Given the description of an element on the screen output the (x, y) to click on. 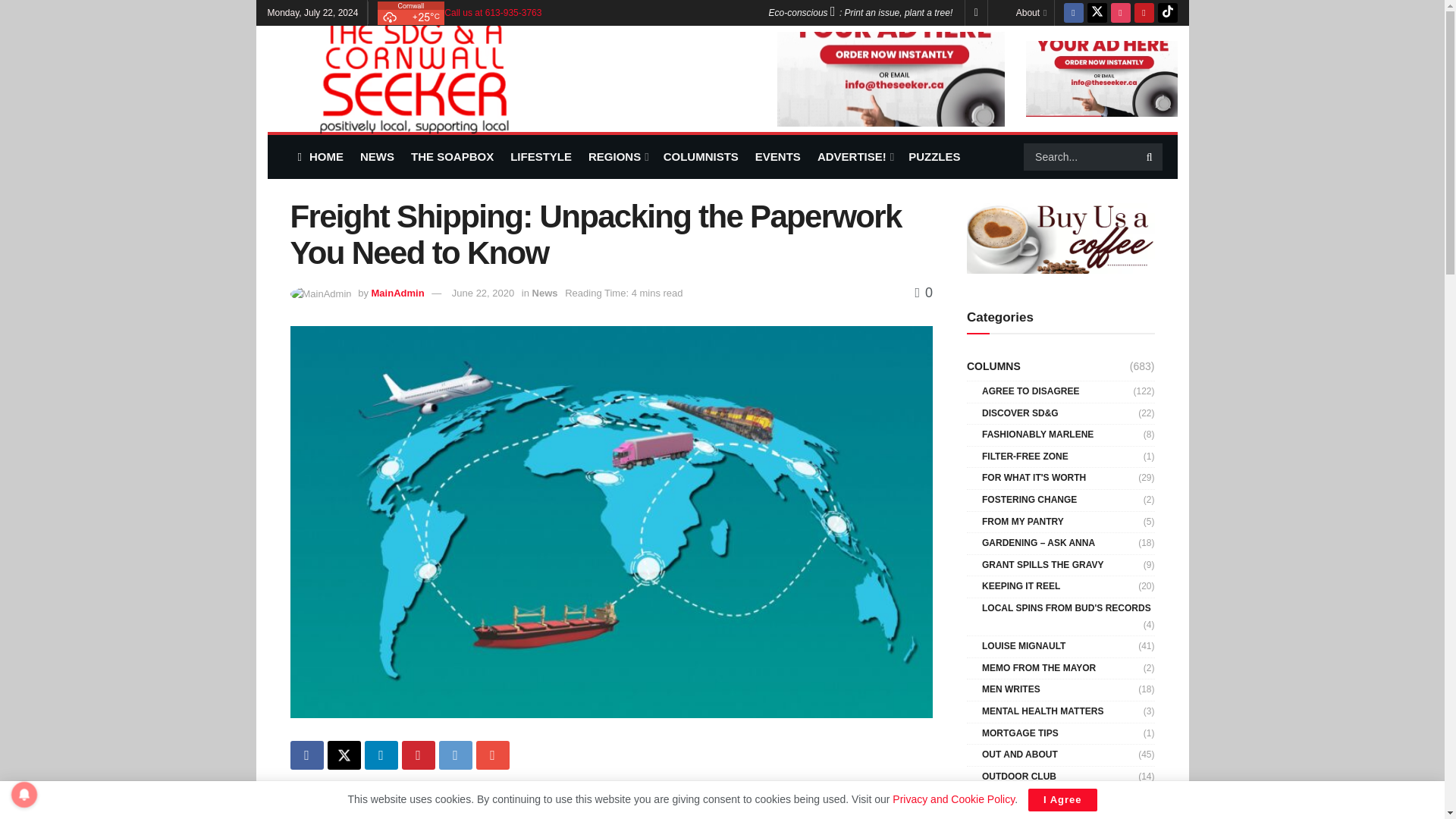
NEWS (376, 156)
COLUMNISTS (700, 156)
REGIONS (617, 156)
Call us at 613-935-3763 (492, 12)
About (1030, 12)
EVENTS (777, 156)
HOME (319, 156)
ADVERTISE! (853, 156)
PUZZLES (933, 156)
THE SOAPBOX (451, 156)
LIFESTYLE (541, 156)
